Given the description of an element on the screen output the (x, y) to click on. 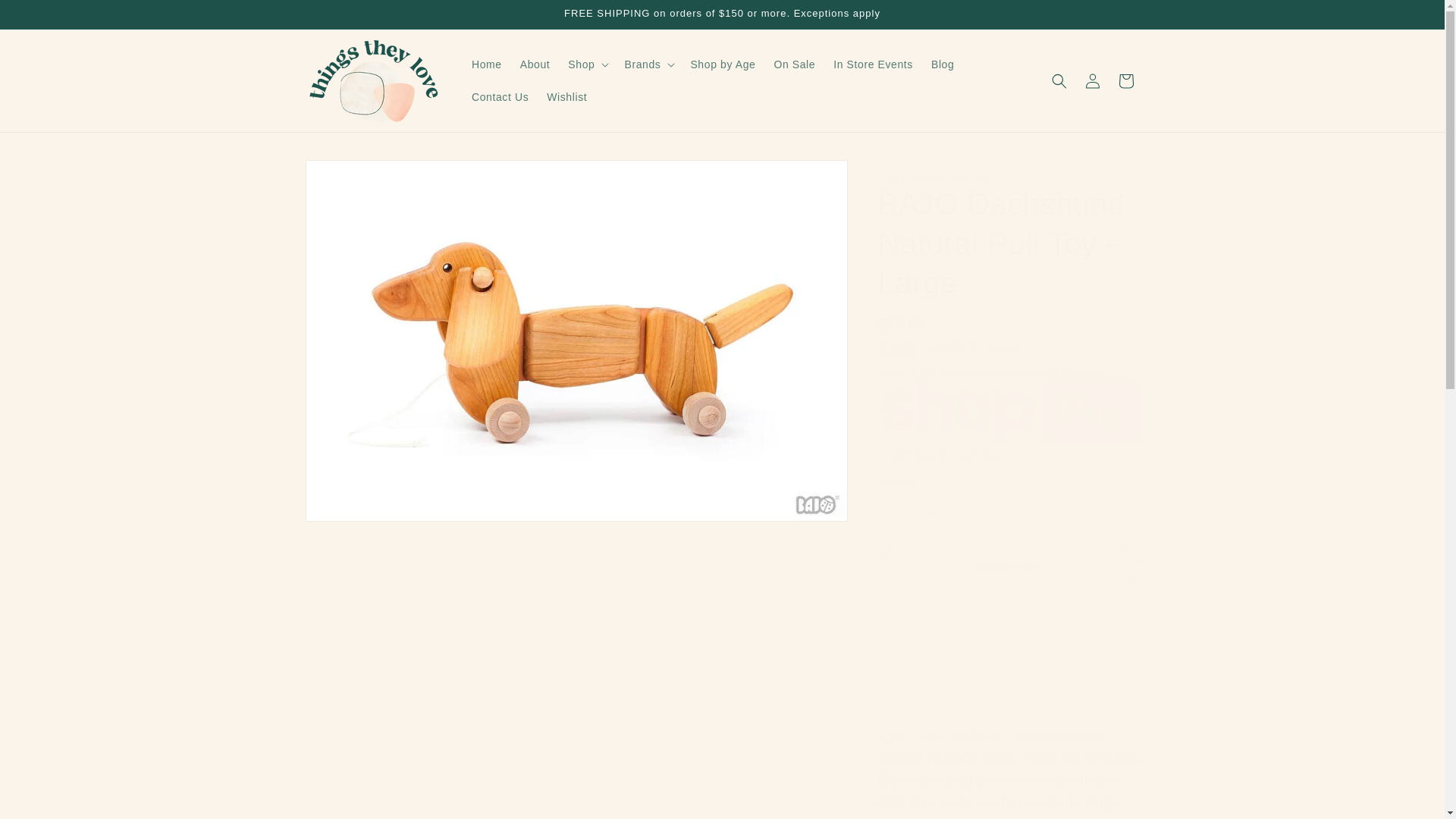
Skip to content (45, 17)
1 (931, 511)
